Given the description of an element on the screen output the (x, y) to click on. 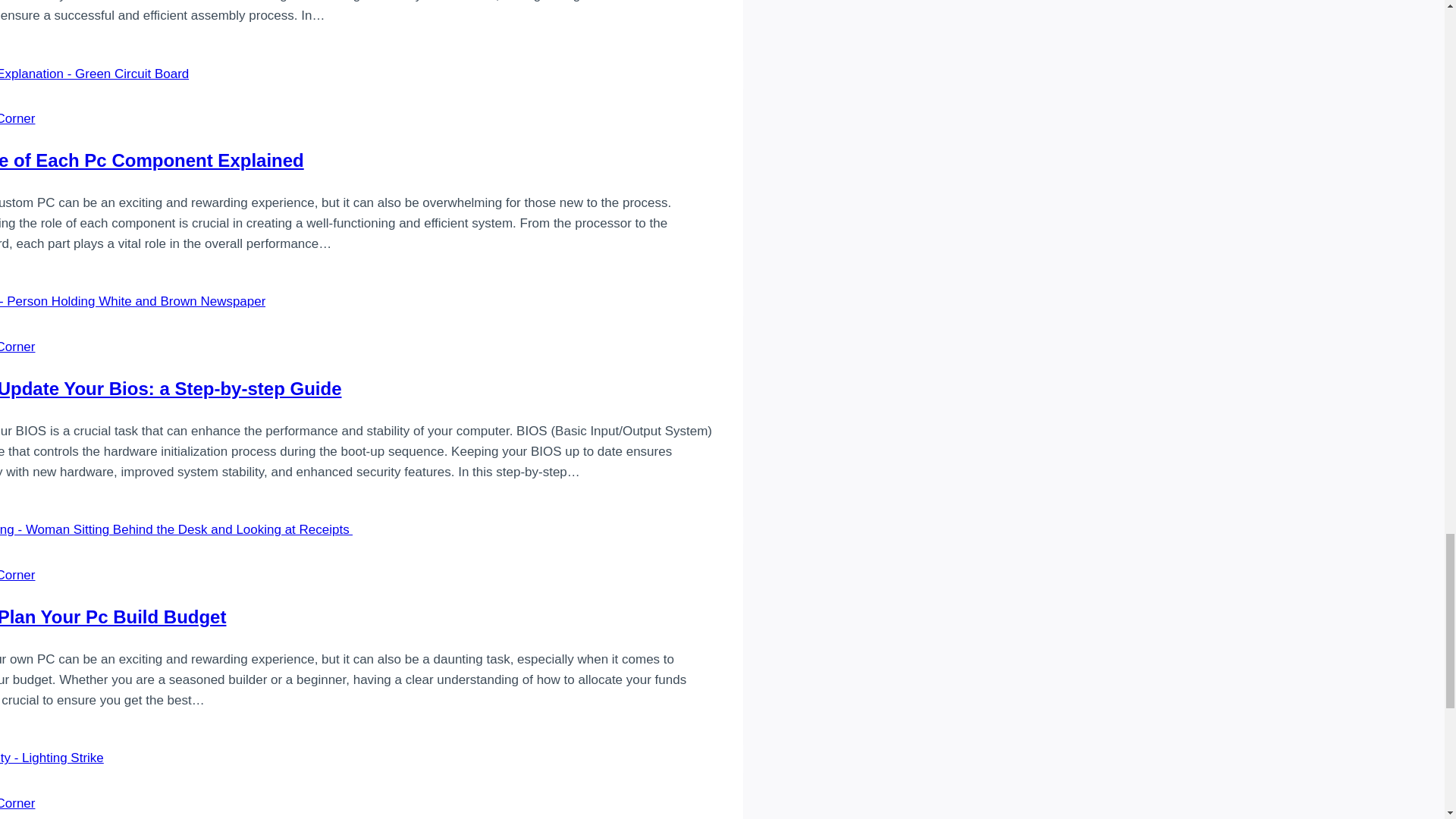
Beginner's Corner (17, 803)
How to Update Your Bios: a Step-by-step Guide (170, 388)
Beginner's Corner (17, 346)
Beginner's Corner (17, 118)
The Role of Each Pc Component Explained (152, 159)
How to Plan Your Pc Build Budget (112, 616)
Beginner's Corner (17, 575)
